Given the description of an element on the screen output the (x, y) to click on. 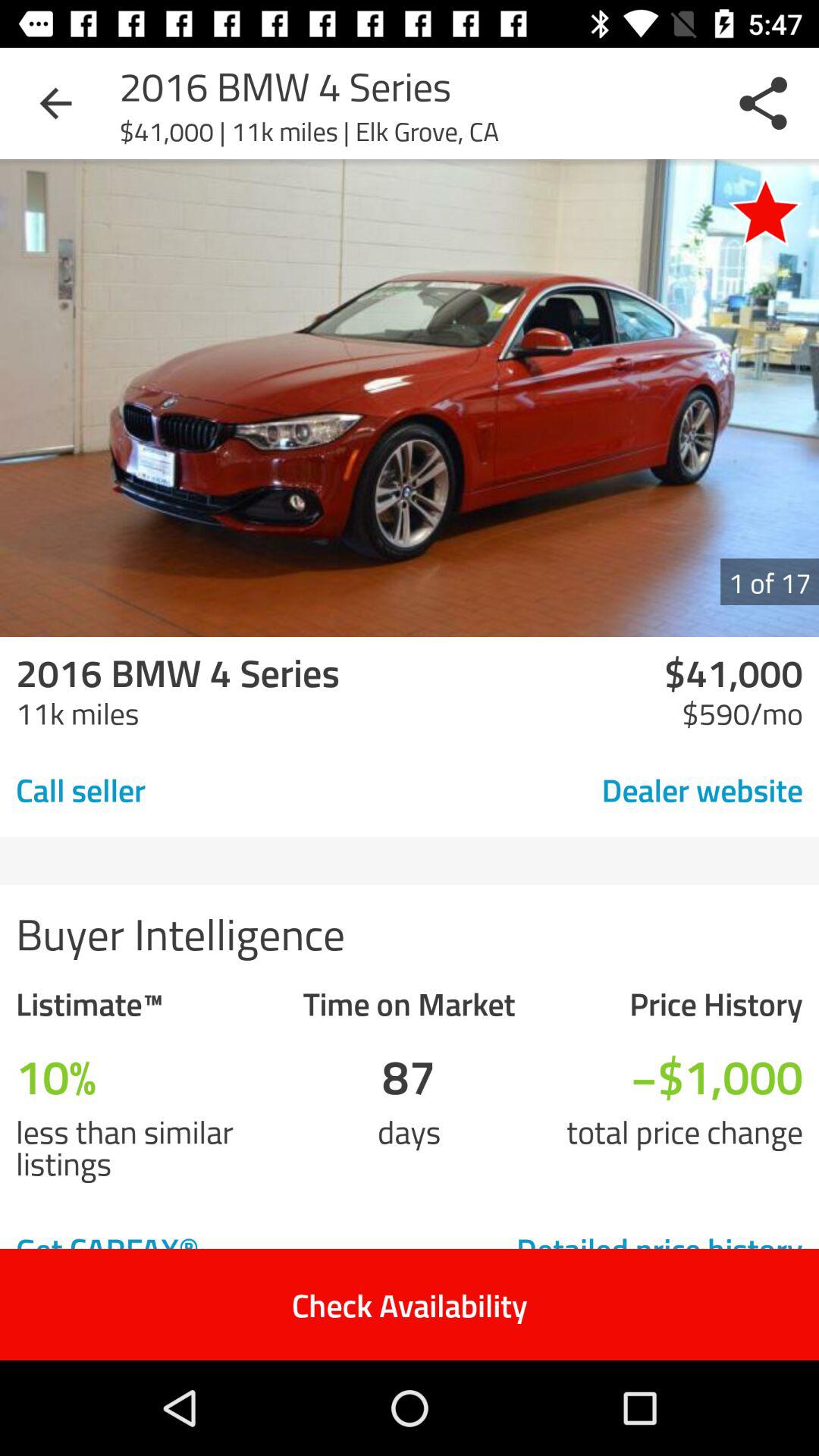
choose item at the top left corner (55, 103)
